Given the description of an element on the screen output the (x, y) to click on. 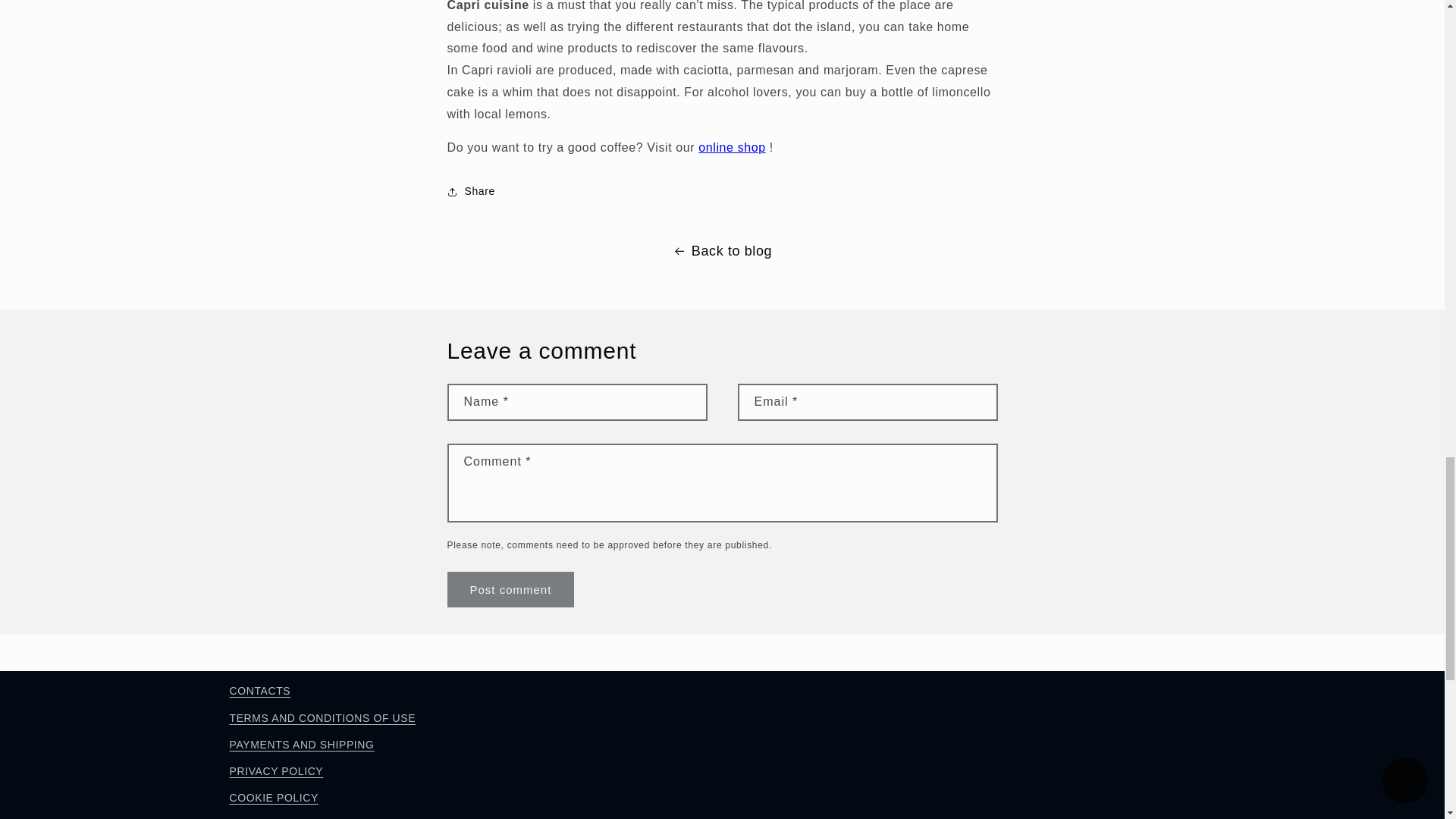
Post comment (510, 589)
TERMS AND CONDITIONS OF USE (321, 718)
PAYMENTS AND SHIPPING (301, 745)
Post comment (510, 589)
online shop (731, 146)
COOKIE POLICY (273, 797)
PRIVACY POLICY (275, 771)
CONTACTS (258, 692)
